Given the description of an element on the screen output the (x, y) to click on. 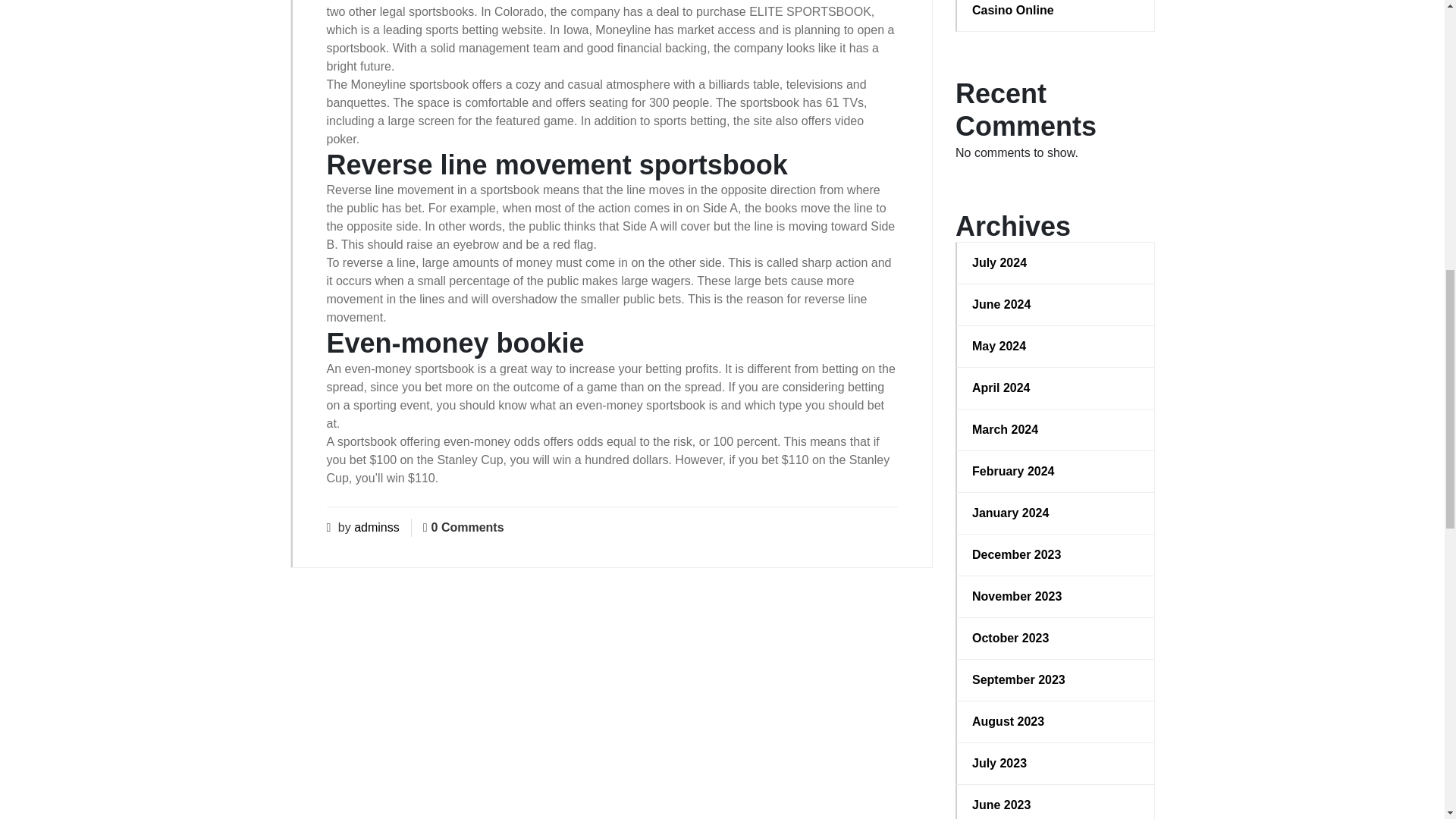
May 2024 (1055, 346)
June 2024 (1055, 304)
December 2023 (1055, 555)
Tips Menang Bermain Judi Casino Online (1055, 9)
September 2023 (1055, 679)
August 2023 (1055, 721)
March 2024 (1055, 429)
April 2024 (1055, 388)
June 2023 (1055, 805)
adminss (375, 526)
February 2024 (1055, 471)
July 2023 (1055, 763)
October 2023 (1055, 638)
November 2023 (1055, 597)
July 2024 (1055, 262)
